Given the description of an element on the screen output the (x, y) to click on. 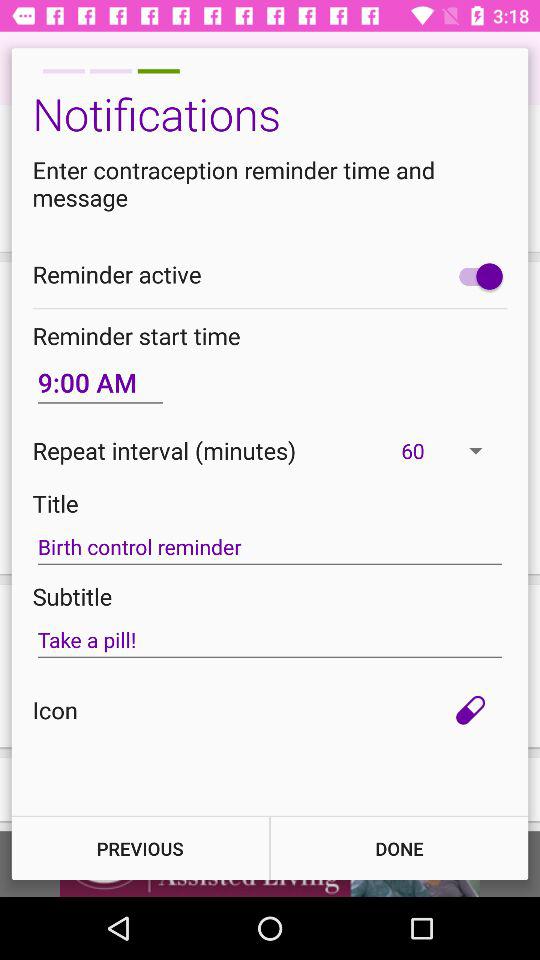
open item on the left (100, 382)
